Given the description of an element on the screen output the (x, y) to click on. 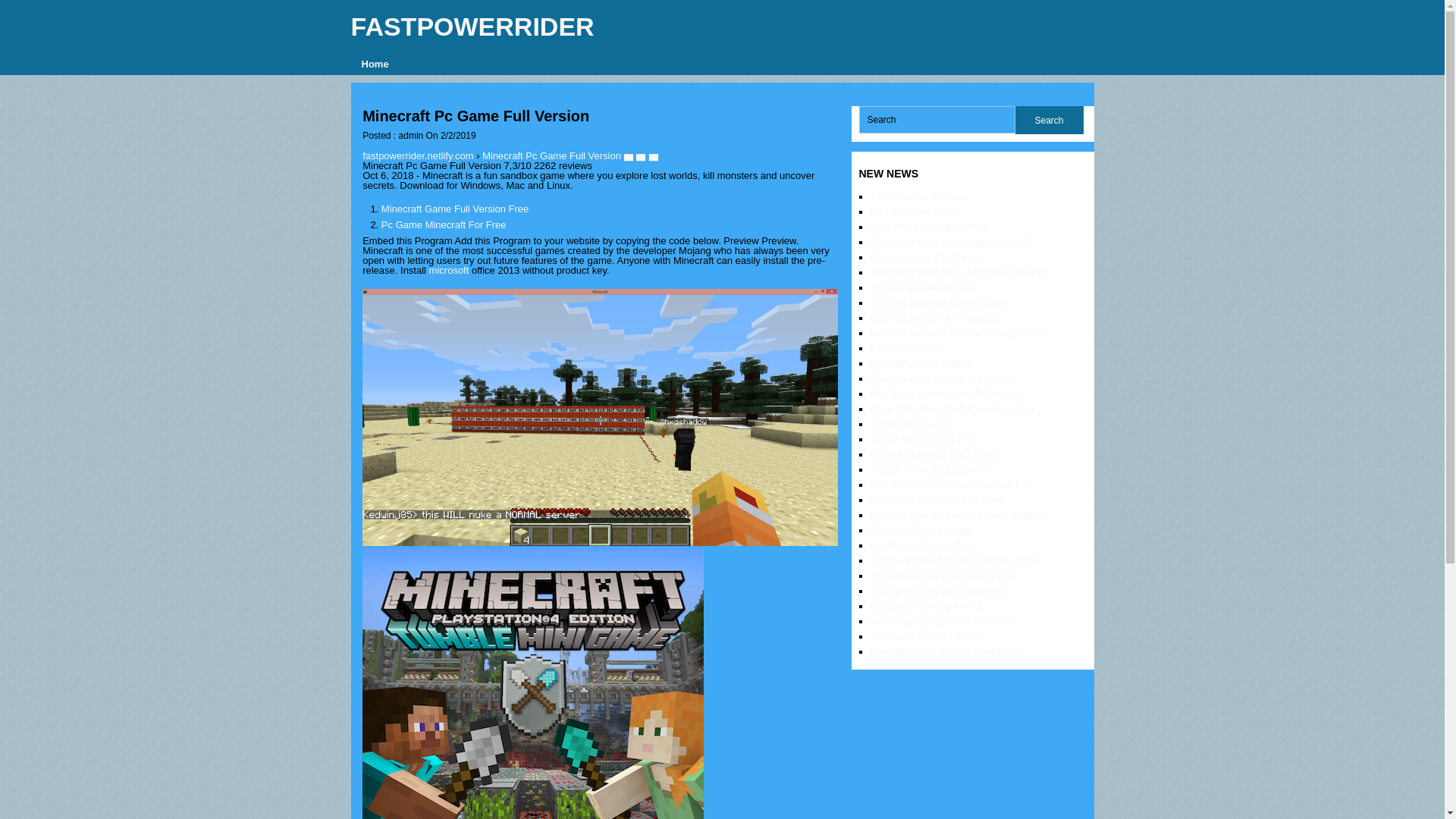
Best Music Torrent Sites (923, 545)
Pc Game Minecraft For Free (443, 224)
Version (532, 683)
Office 365 Activation Key Free (936, 500)
microsoft (448, 270)
Hum Saath Saath Hain Full Film (940, 621)
Telangana Voter Id Status (927, 636)
fastpowerrider.netlify.com (417, 155)
Download Buku Matematika Kelas 7 (949, 242)
Communication Skills Lecture Notes Pdf (958, 272)
